Given the description of an element on the screen output the (x, y) to click on. 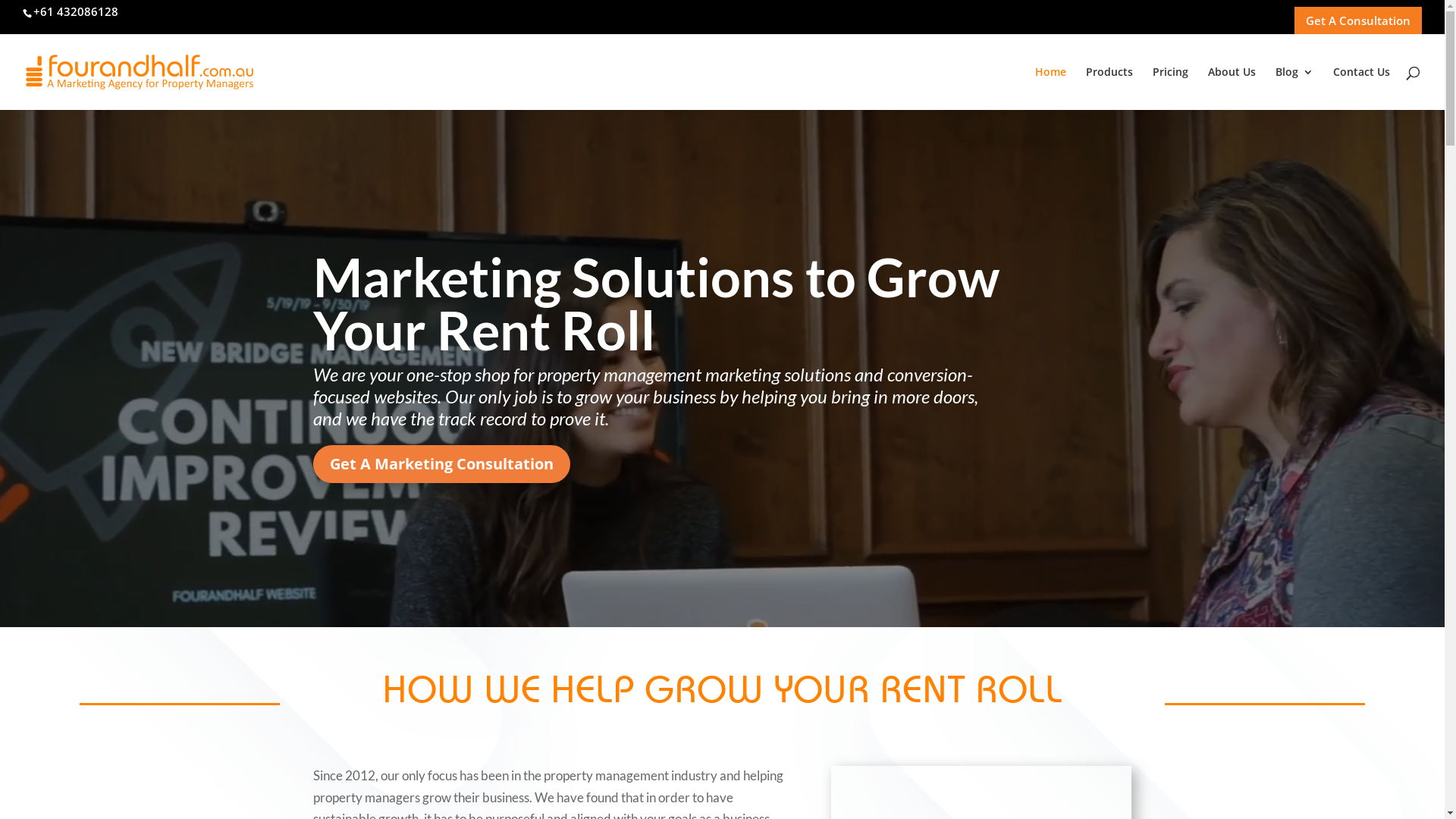
Blog Element type: text (1294, 87)
Get A Marketing Consultation Element type: text (440, 464)
Products Element type: text (1108, 87)
Home Element type: text (1050, 87)
+61 432086128 Element type: text (75, 10)
Pricing Element type: text (1170, 87)
Contact Us Element type: text (1361, 87)
Get A Consultation Element type: text (1357, 20)
About Us Element type: text (1231, 87)
